Given the description of an element on the screen output the (x, y) to click on. 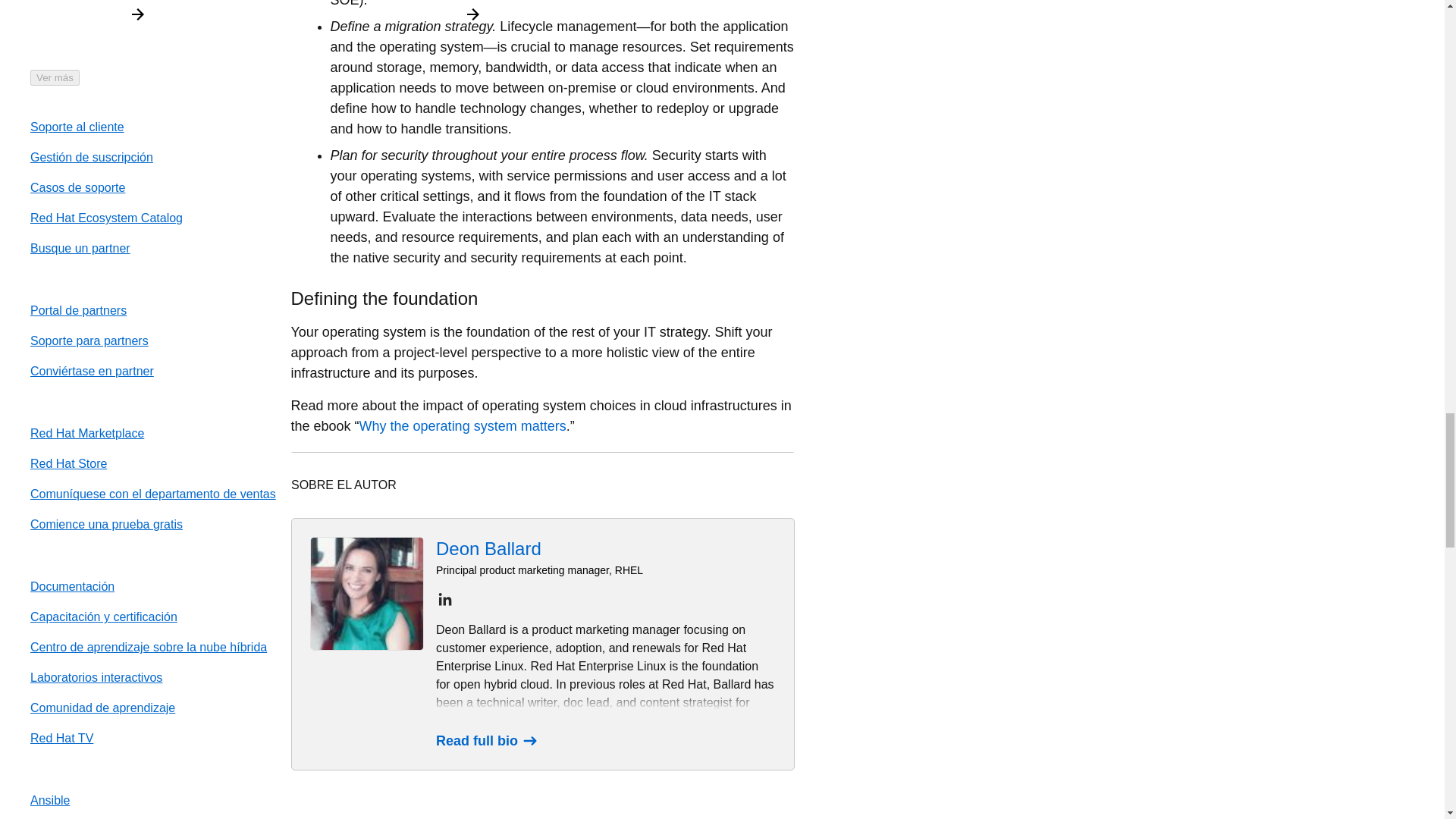
Follow Deon Ballard LinkedIn (443, 599)
